Given the description of an element on the screen output the (x, y) to click on. 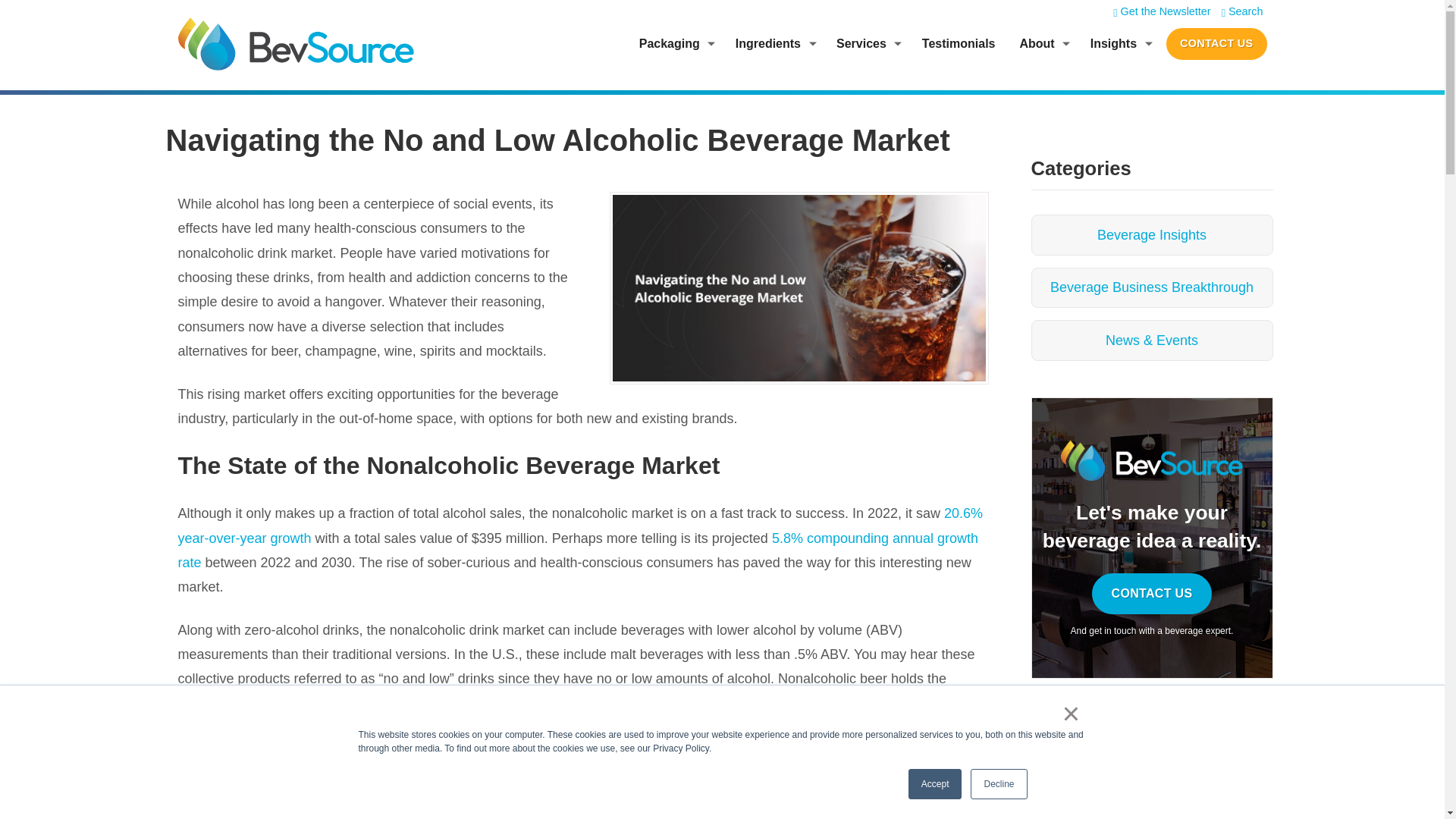
Search (1242, 10)
Services (855, 44)
Accept (935, 784)
Ingredients (761, 44)
Decline (998, 784)
Packaging (663, 44)
Home (295, 43)
Get the Newsletter (1161, 10)
